Given the description of an element on the screen output the (x, y) to click on. 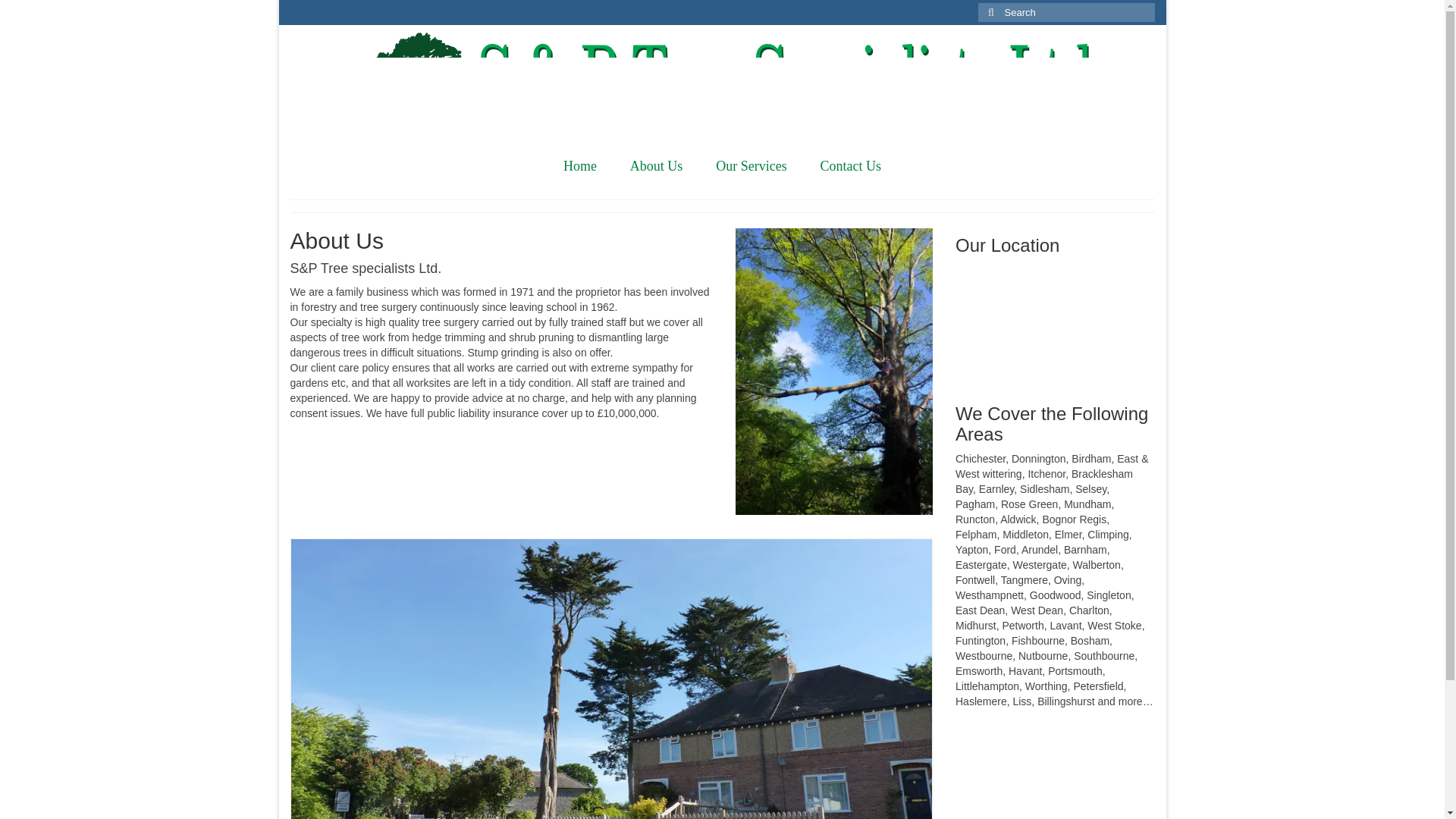
Our Services (751, 165)
Home (579, 165)
Contact Us (850, 165)
About Us (656, 165)
